Given the description of an element on the screen output the (x, y) to click on. 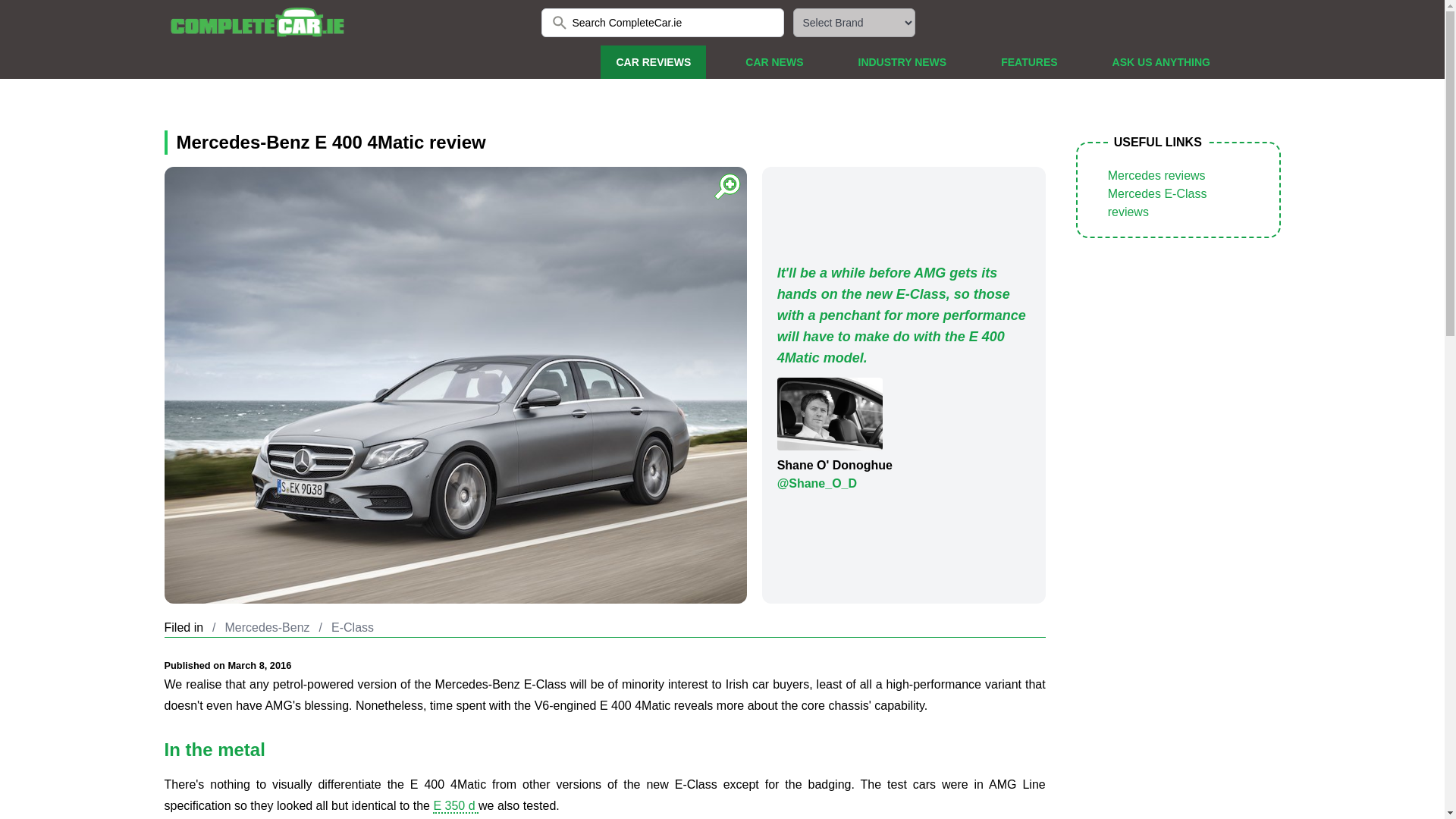
CAR NEWS (774, 61)
Search CompleteCar.ie (662, 22)
CAR REVIEWS (652, 61)
Search CompleteCar.ie (662, 22)
INDUSTRY NEWS (902, 61)
FEATURES (1028, 61)
ASK US ANYTHING (1161, 61)
